Given the description of an element on the screen output the (x, y) to click on. 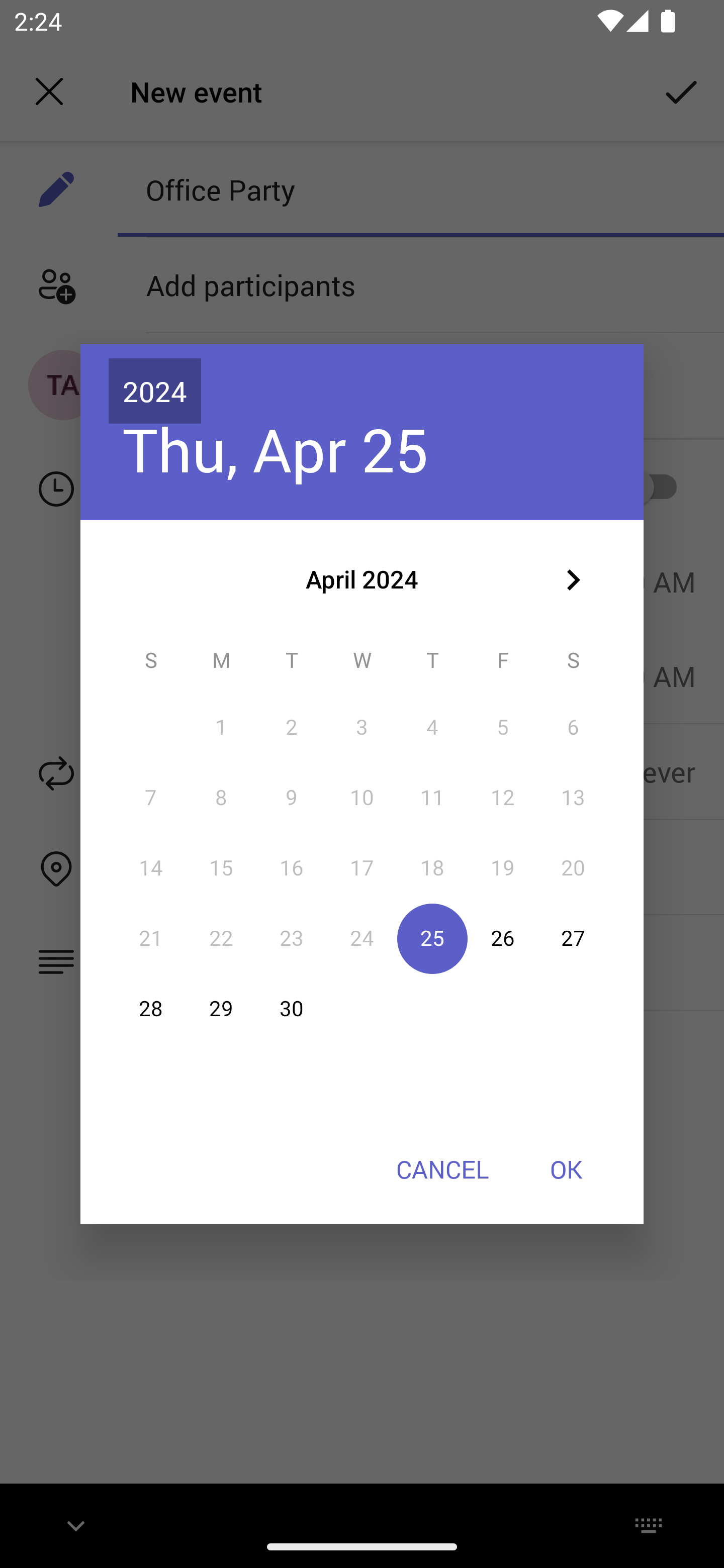
2024 (154, 391)
Thu, Apr 25 (275, 449)
Next month (572, 579)
1 01 April 2024 (221, 728)
2 02 April 2024 (291, 728)
3 03 April 2024 (361, 728)
4 04 April 2024 (432, 728)
5 05 April 2024 (502, 728)
6 06 April 2024 (572, 728)
7 07 April 2024 (150, 797)
8 08 April 2024 (221, 797)
9 09 April 2024 (291, 797)
10 10 April 2024 (361, 797)
11 11 April 2024 (432, 797)
12 12 April 2024 (502, 797)
13 13 April 2024 (572, 797)
14 14 April 2024 (150, 867)
15 15 April 2024 (221, 867)
16 16 April 2024 (291, 867)
17 17 April 2024 (361, 867)
18 18 April 2024 (432, 867)
19 19 April 2024 (502, 867)
20 20 April 2024 (572, 867)
21 21 April 2024 (150, 938)
22 22 April 2024 (221, 938)
23 23 April 2024 (291, 938)
24 24 April 2024 (361, 938)
25 25 April 2024 (432, 938)
26 26 April 2024 (502, 938)
27 27 April 2024 (572, 938)
28 28 April 2024 (150, 1008)
29 29 April 2024 (221, 1008)
30 30 April 2024 (291, 1008)
CANCEL (442, 1168)
OK (565, 1168)
